Given the description of an element on the screen output the (x, y) to click on. 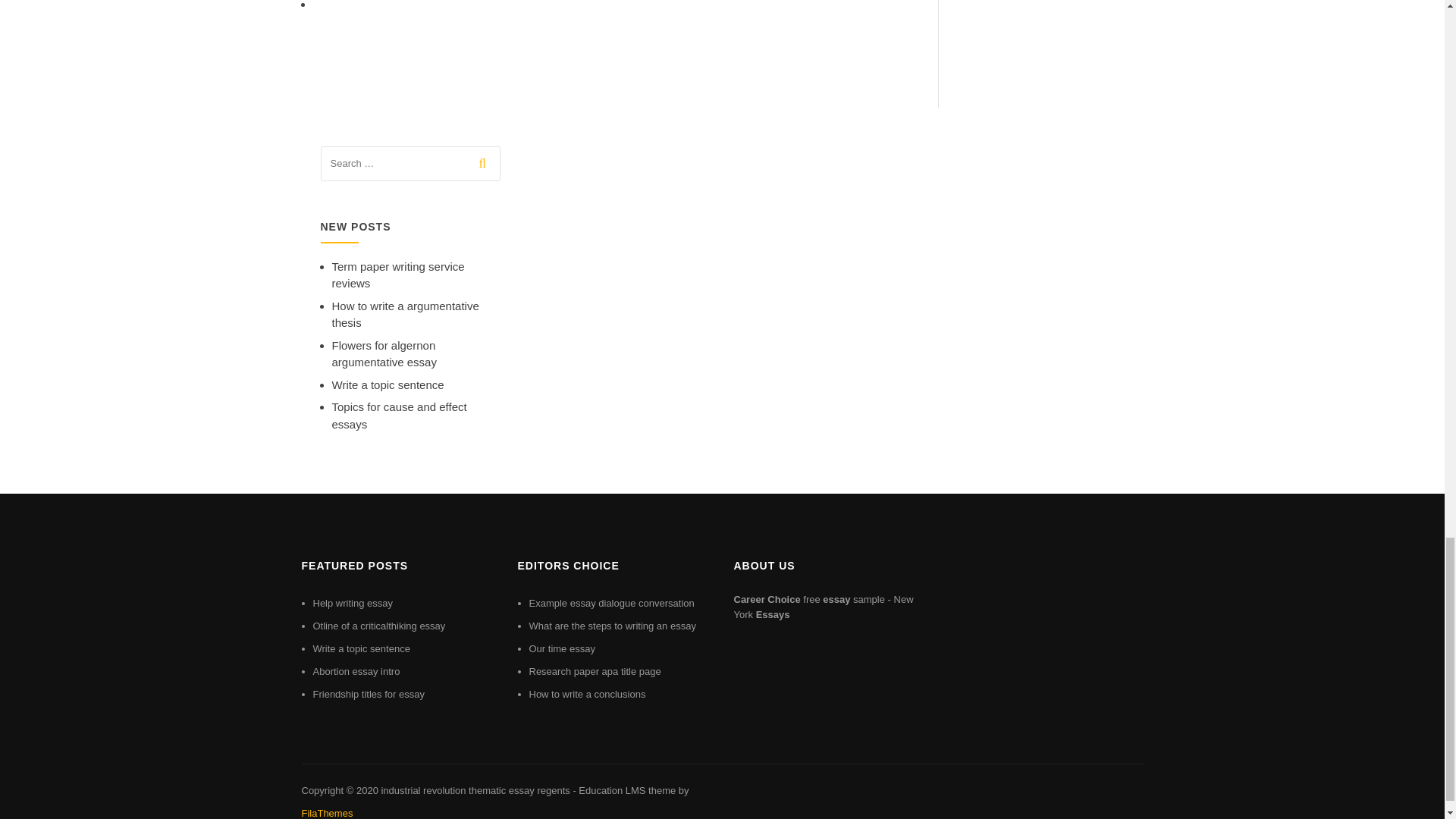
Otline of a criticalthiking essay (379, 625)
Write a topic sentence (387, 384)
Friendship titles for essay (368, 694)
Our time essay (562, 648)
Write a topic sentence (361, 648)
Help writing essay (353, 603)
industrial revolution thematic essay regents (474, 790)
Research paper apa title page (595, 671)
Topics for cause and effect essays (399, 415)
Term paper writing service reviews (397, 275)
Example essay dialogue conversation (611, 603)
How to write a argumentative thesis (405, 314)
Abortion essay intro (355, 671)
industrial revolution thematic essay regents (474, 790)
How to write a conclusions (587, 694)
